Given the description of an element on the screen output the (x, y) to click on. 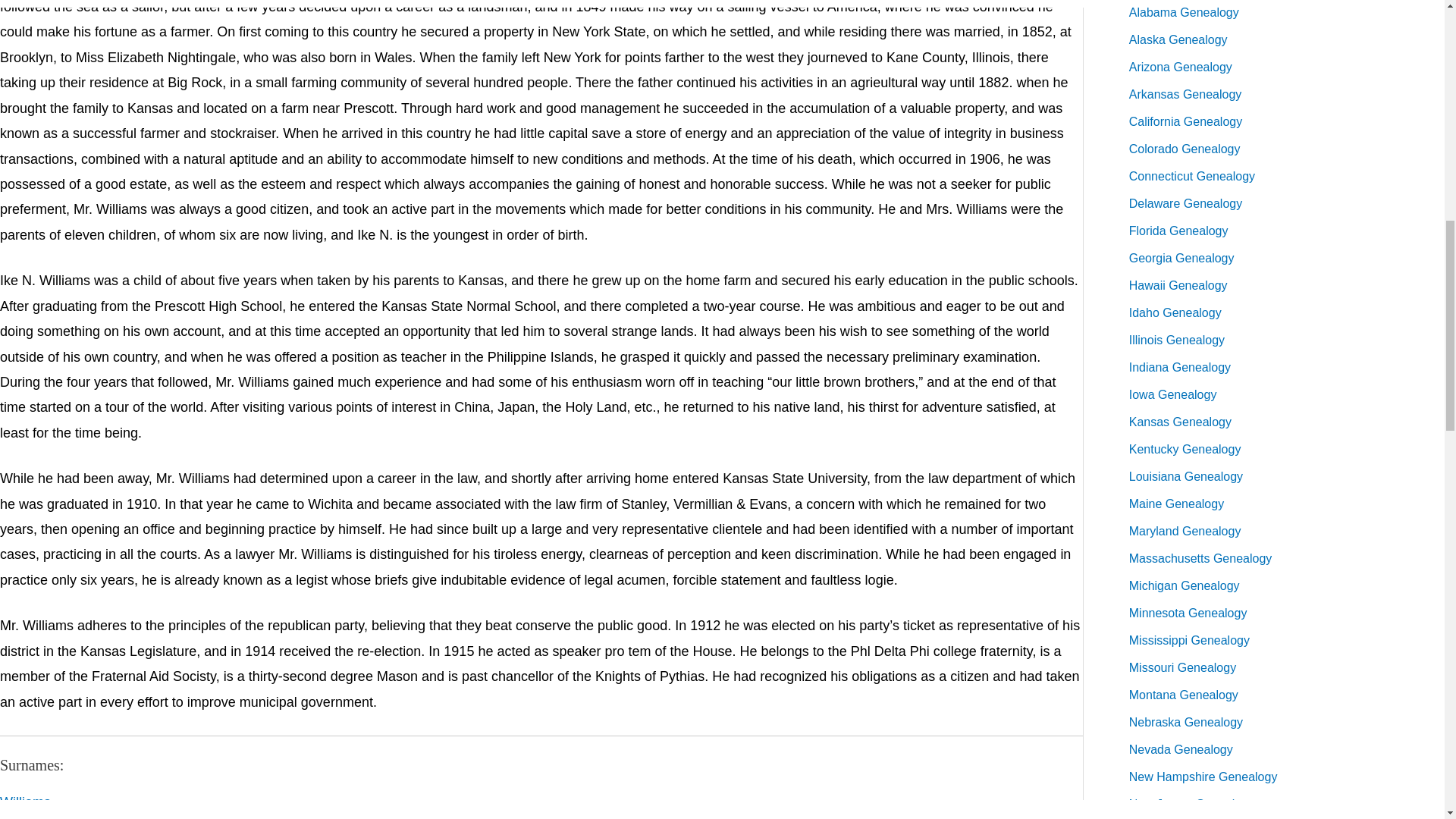
Colorado Genealogy (1184, 148)
Alaska Genealogy (1178, 39)
Alabama Genealogy (1184, 11)
Arizona Genealogy (1180, 66)
Williams (25, 801)
California Genealogy (1185, 121)
Alaska Genealogy (1178, 39)
Arkansas Genealogy (1185, 93)
Connecticut Genealogy (1192, 175)
Alabama Genealogy (1184, 11)
